Given the description of an element on the screen output the (x, y) to click on. 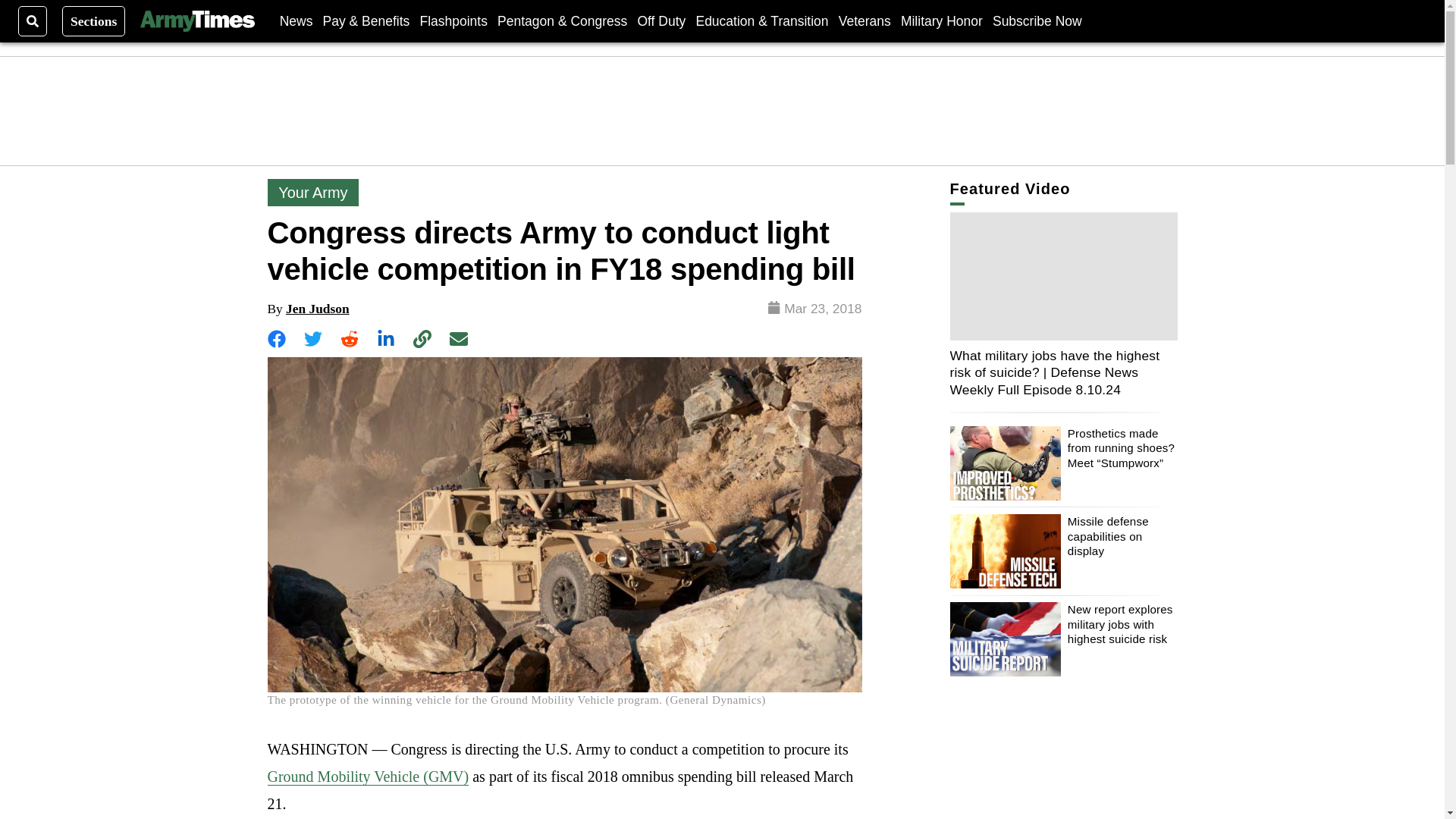
Army Times Logo (196, 20)
News (296, 20)
Military Honor (941, 20)
Sections (93, 20)
Off Duty (661, 20)
Veterans (864, 20)
Flashpoints (453, 20)
